Given the description of an element on the screen output the (x, y) to click on. 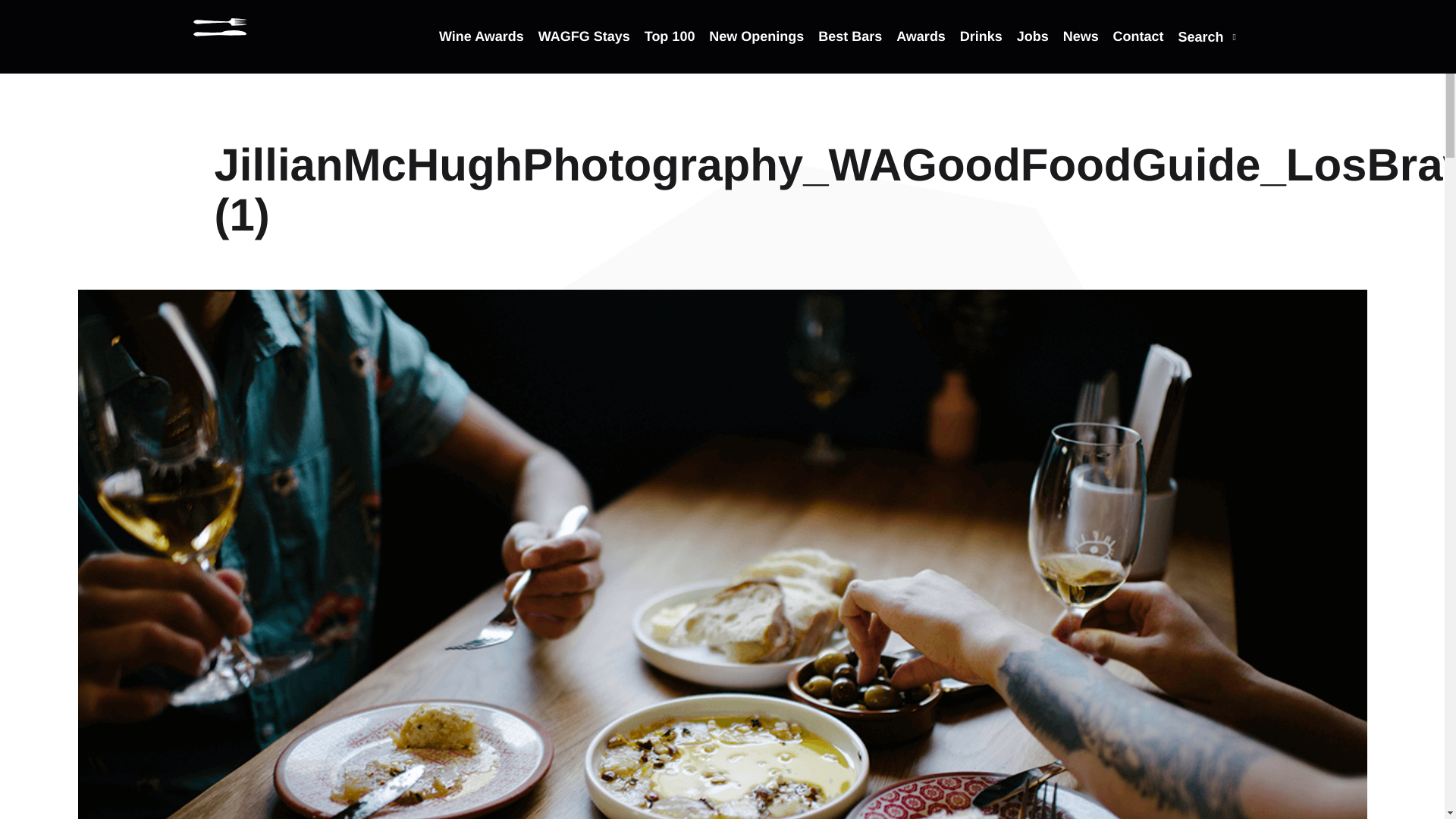
Best Bars (850, 49)
Wine Awards (481, 49)
The West Australian Good Food Guide (219, 26)
WAGFG Stays (584, 49)
Contact (1138, 49)
Drinks (981, 49)
Top 100 (670, 49)
Search (1206, 50)
Awards (920, 49)
New Openings (756, 49)
